Given the description of an element on the screen output the (x, y) to click on. 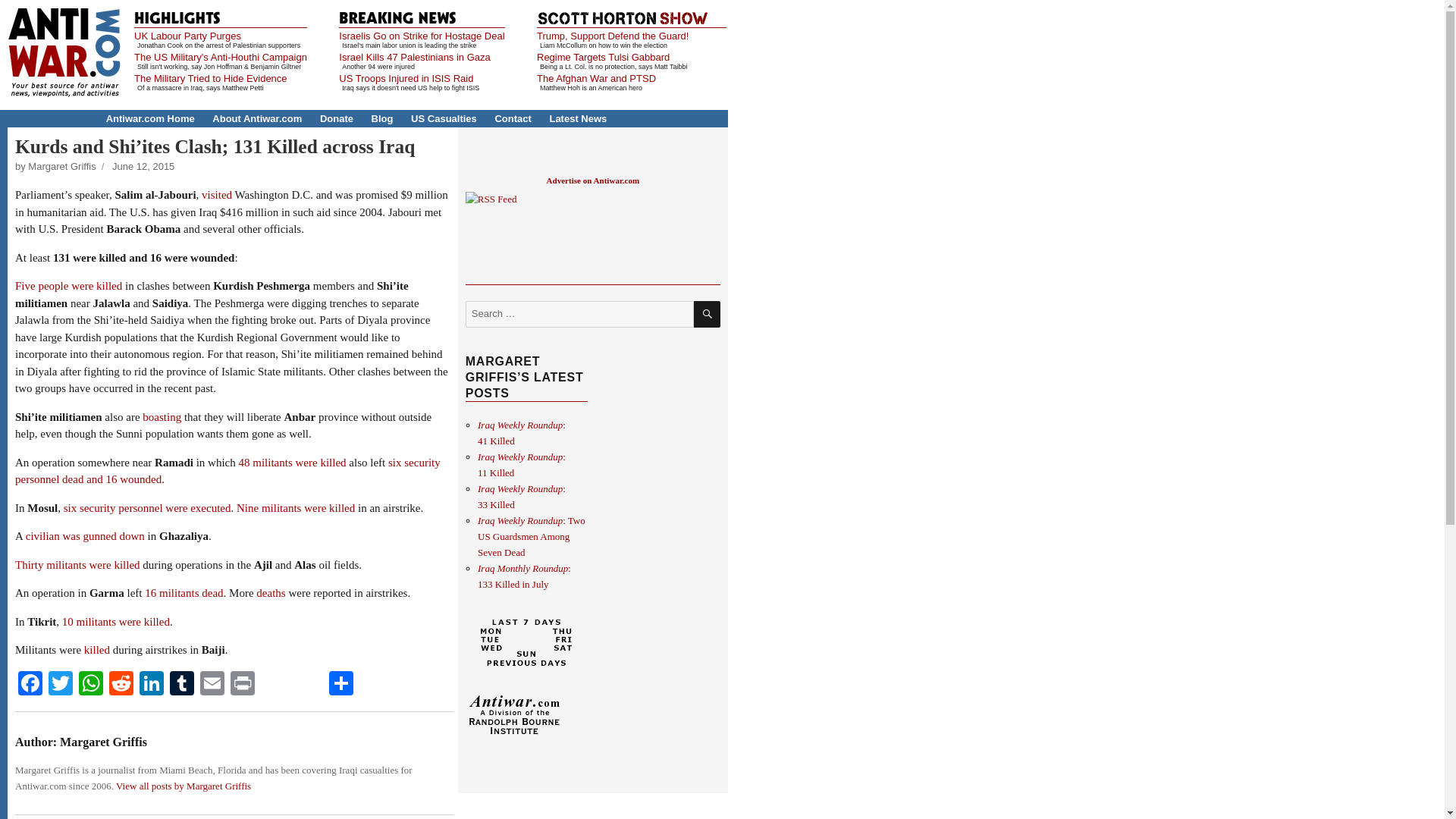
Reddit (121, 684)
Facebook (29, 684)
LinkedIn (151, 684)
The US Military's Anti-Houthi Campaign (220, 57)
Email (211, 684)
Tumblr (181, 684)
visited (216, 194)
killed (97, 649)
48 militants were killed (292, 462)
The Military Tried to Hide Evidence (209, 78)
